Given the description of an element on the screen output the (x, y) to click on. 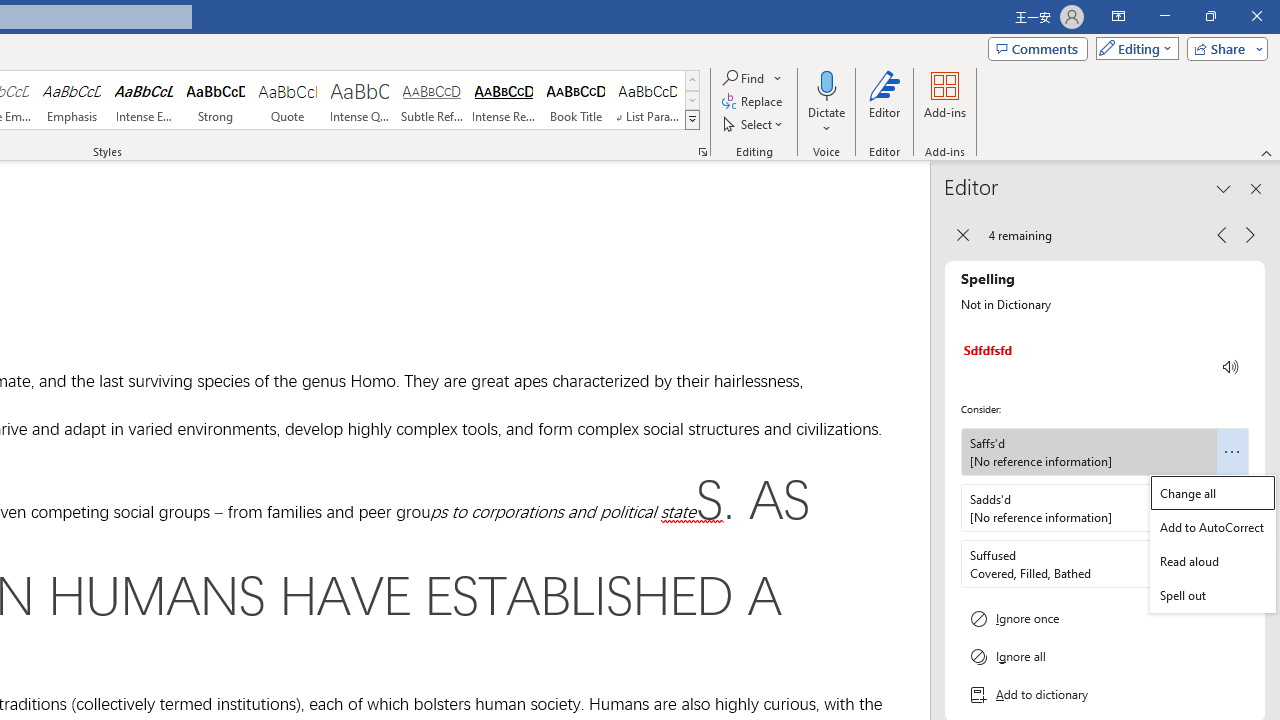
Ignore all (1105, 656)
